Given the description of an element on the screen output the (x, y) to click on. 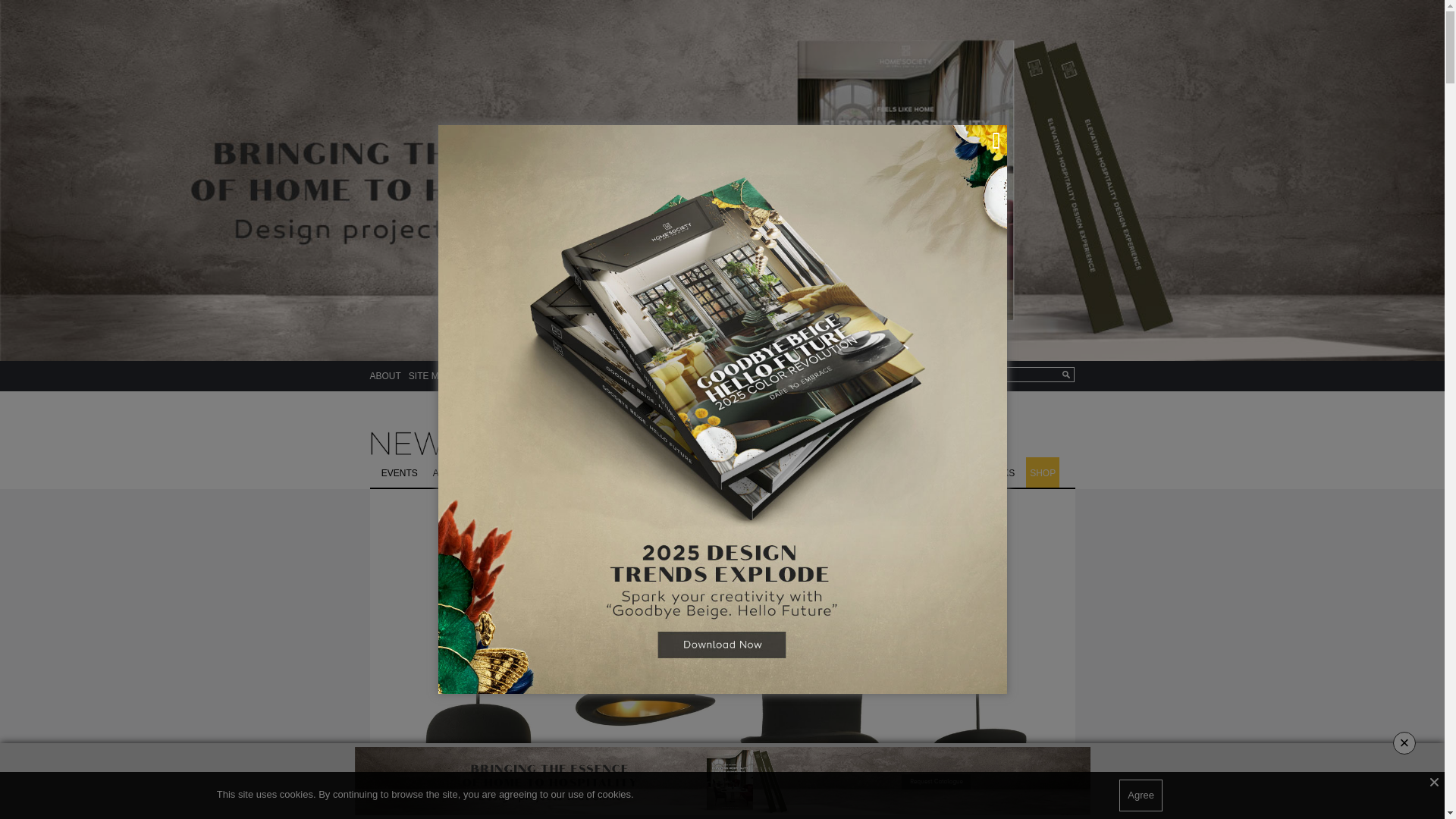
POLICY PRIVACY (496, 376)
EBOOKS (994, 472)
EVENTS (399, 472)
SOHO TRENDS (811, 472)
INTERIOR DESIGN (559, 472)
SITE MAP (430, 376)
ABOUT (385, 376)
ROOMS INSPIRATION (909, 472)
NY GALLERIES (730, 472)
ARCHITECTURE (468, 472)
SHOP (1042, 472)
NY CITY GUIDE (648, 472)
Search (1020, 374)
